Given the description of an element on the screen output the (x, y) to click on. 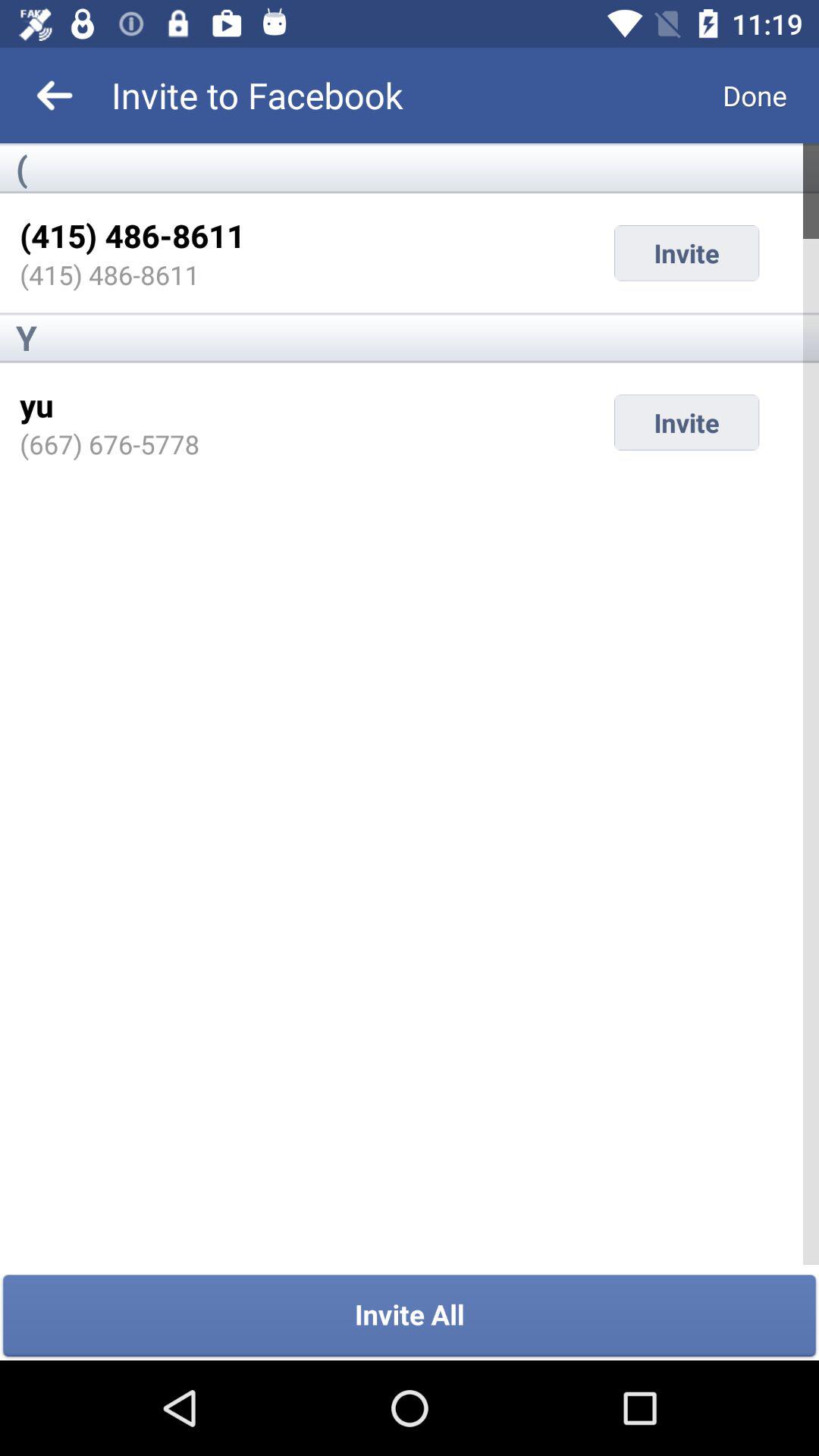
select item above the ( icon (755, 95)
